Given the description of an element on the screen output the (x, y) to click on. 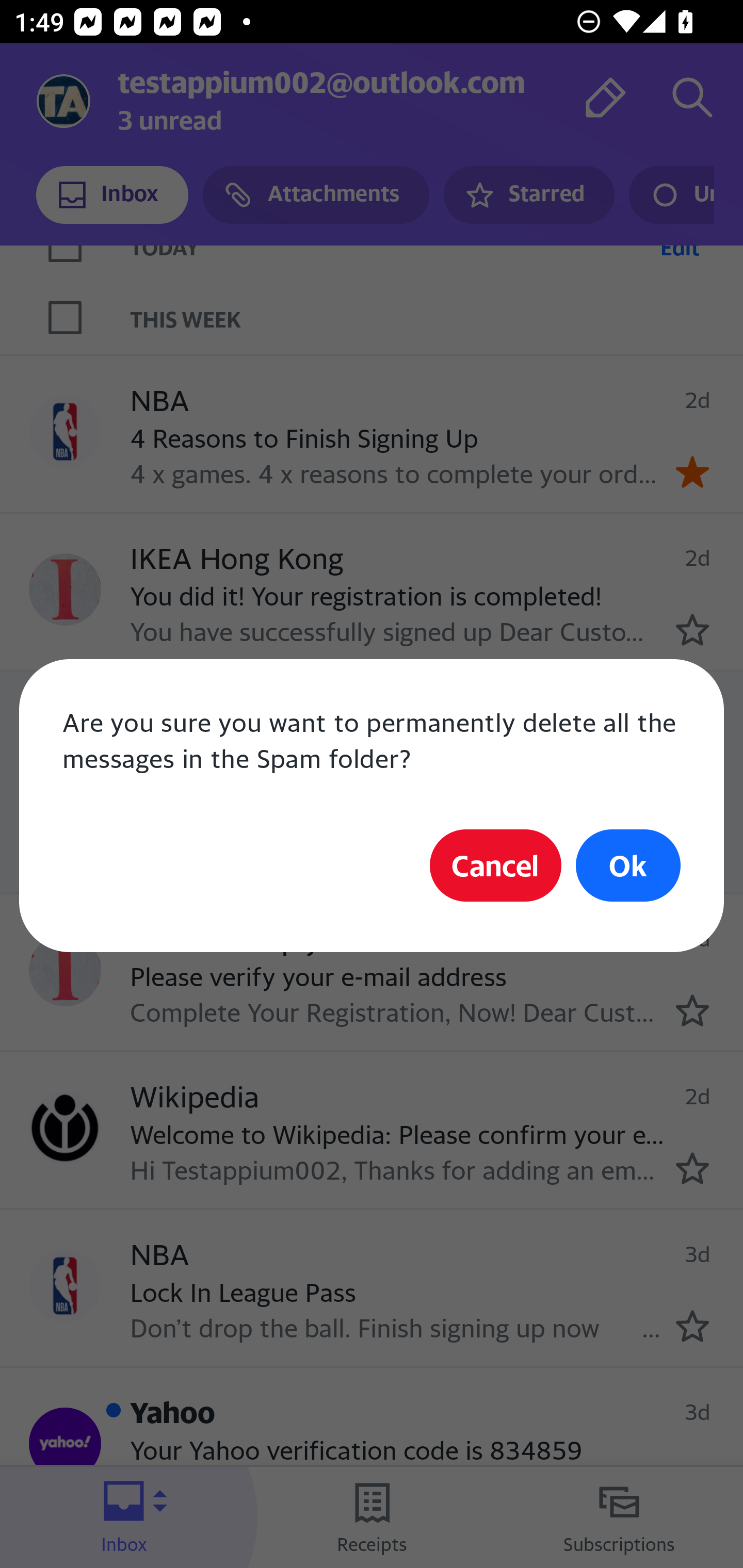
Cancel (495, 865)
Ok (627, 865)
